Given the description of an element on the screen output the (x, y) to click on. 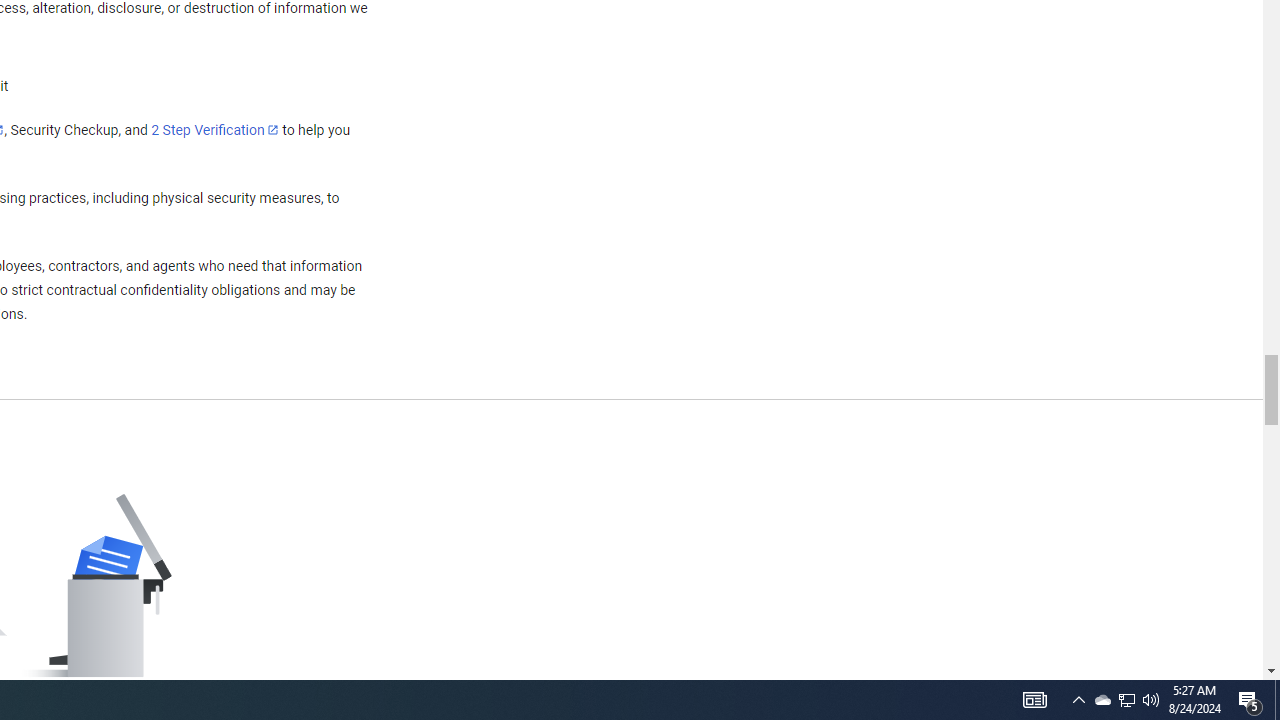
2 Step Verification (215, 129)
